Given the description of an element on the screen output the (x, y) to click on. 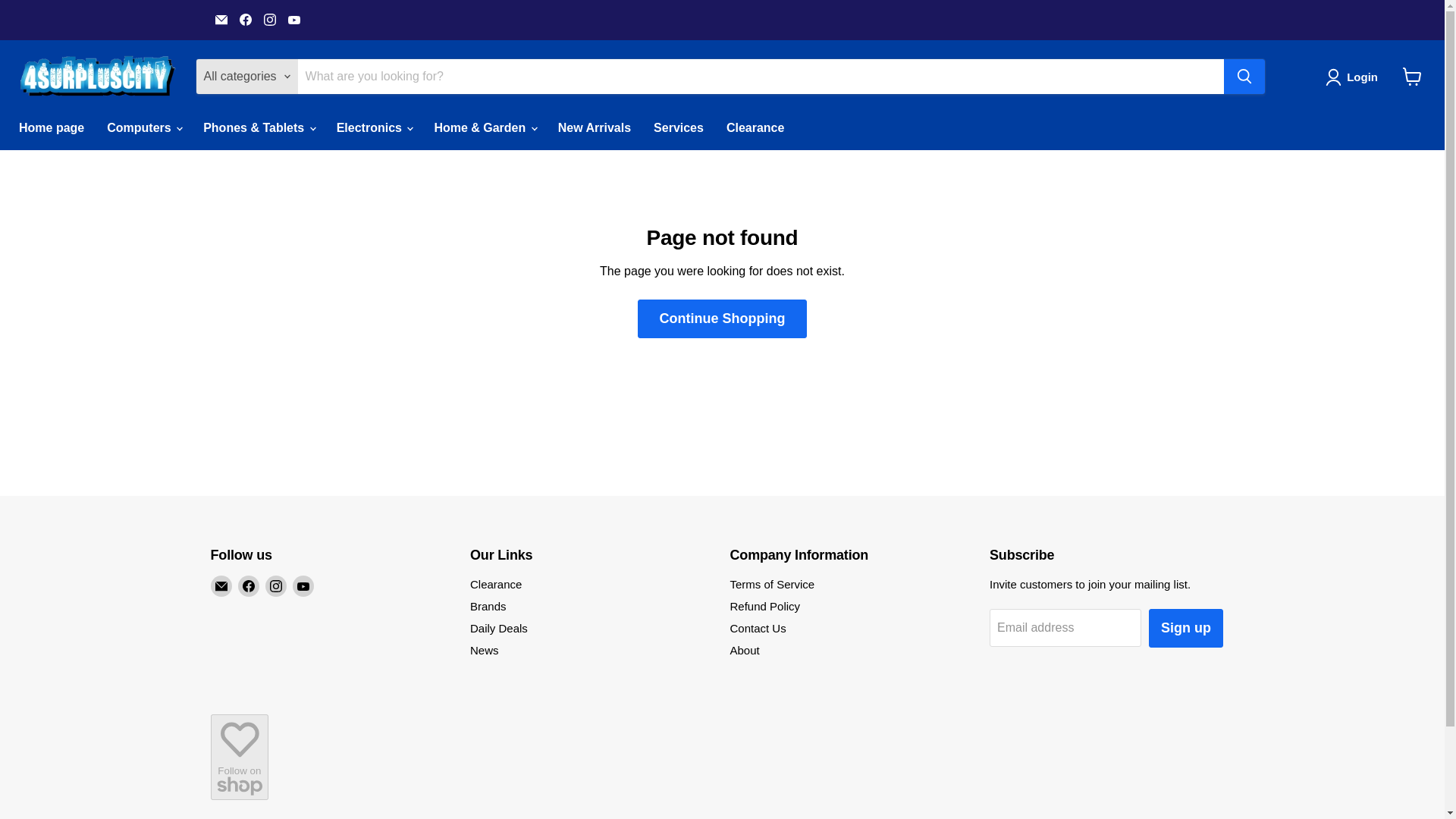
Clearance (755, 128)
Email (221, 586)
Instagram (270, 19)
Find us on Facebook (245, 19)
Email 4Surpluscity (221, 19)
Email (221, 19)
Find us on Instagram (270, 19)
New Arrivals (594, 128)
Facebook (248, 586)
View cart (1411, 76)
